Given the description of an element on the screen output the (x, y) to click on. 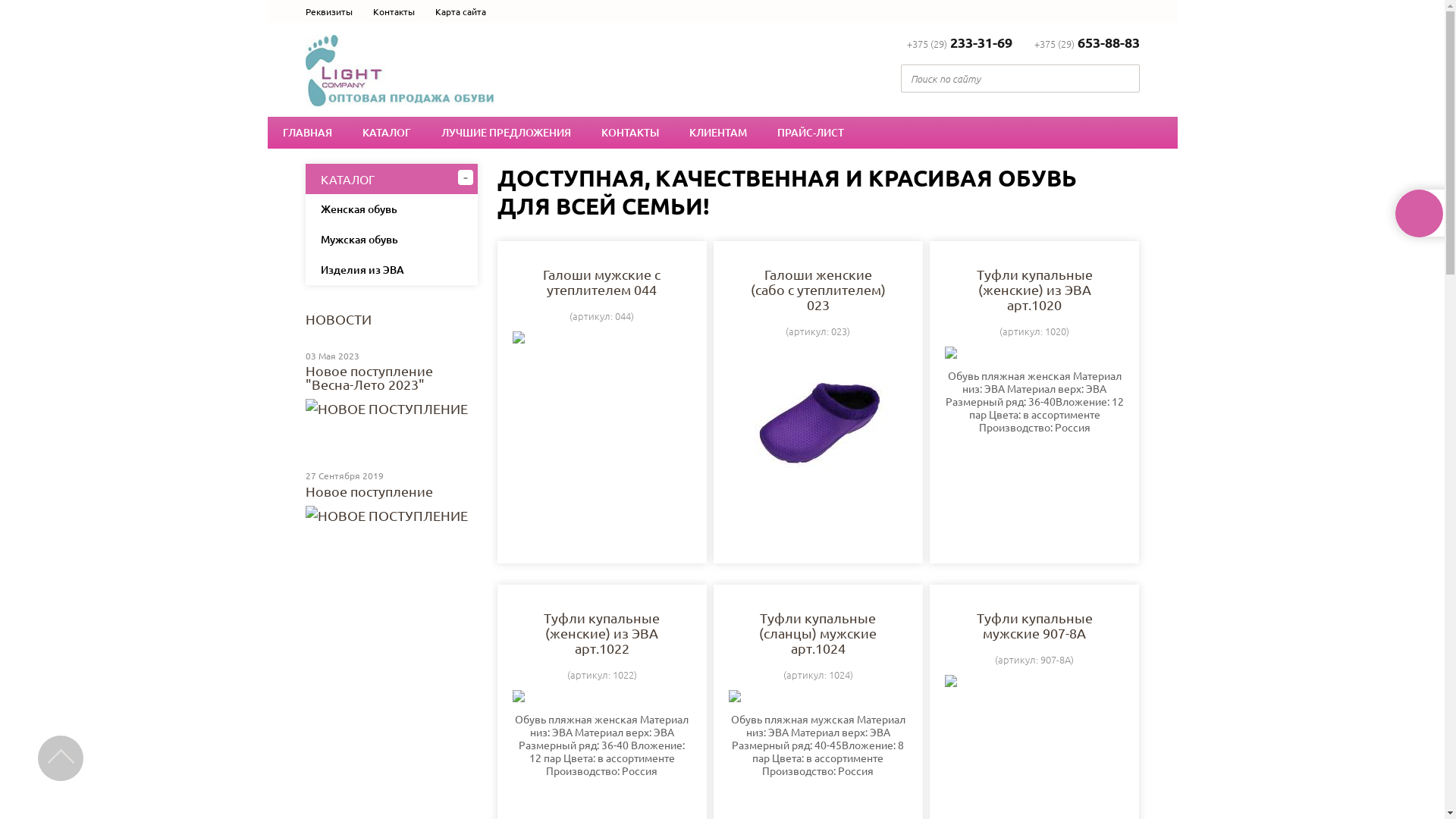
+375 (29)233-31-69 Element type: text (959, 42)
+375 (29)653-88-83 Element type: text (1086, 42)
